Given the description of an element on the screen output the (x, y) to click on. 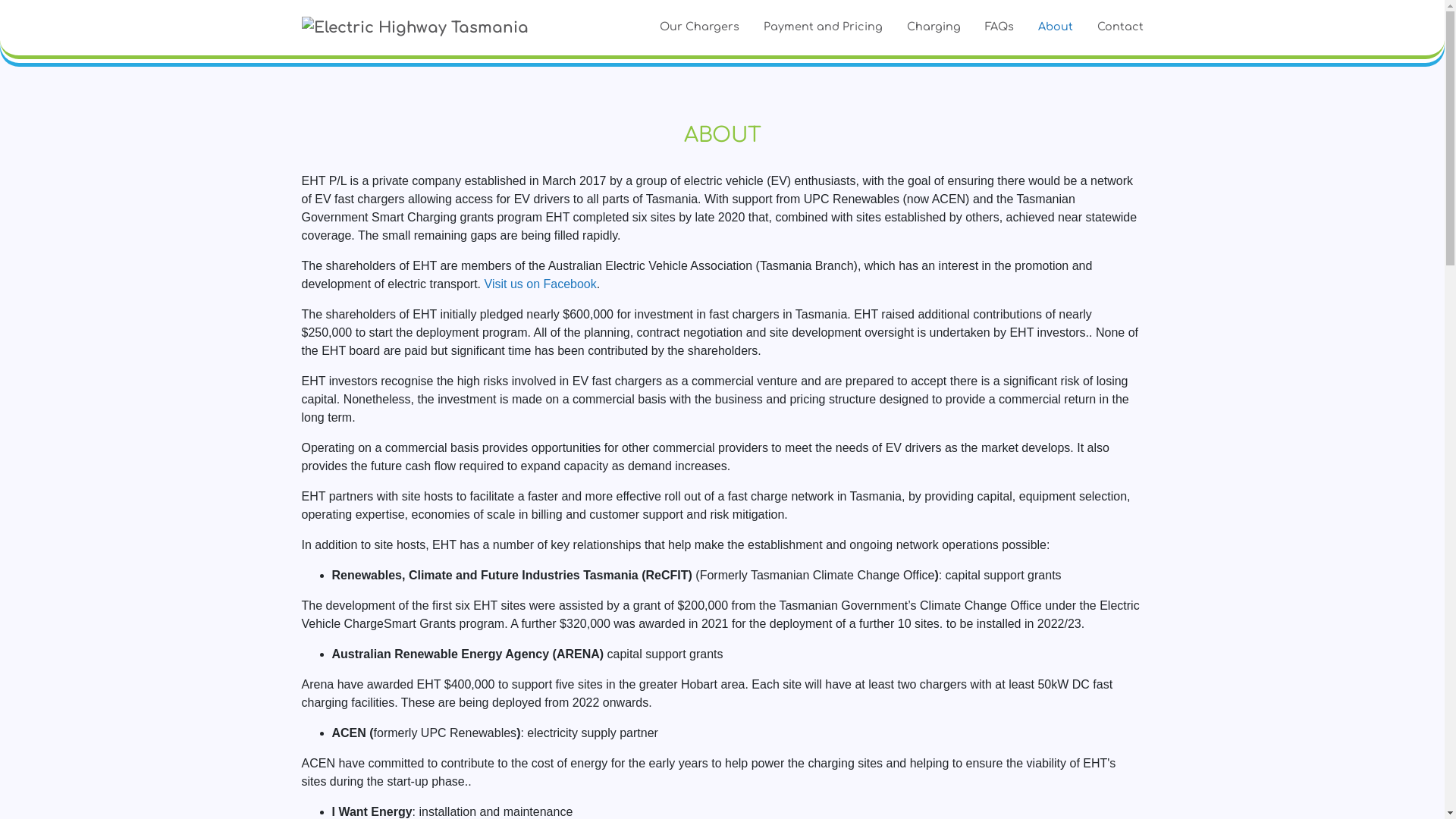
Electric Highway Tasmania Element type: text (414, 27)
Contact Element type: text (1113, 26)
About Element type: text (1054, 26)
Payment and Pricing Element type: text (822, 26)
Our Chargers Element type: text (699, 26)
FAQs Element type: text (998, 26)
Visit us on Facebook Element type: text (540, 283)
Charging Element type: text (933, 26)
